Given the description of an element on the screen output the (x, y) to click on. 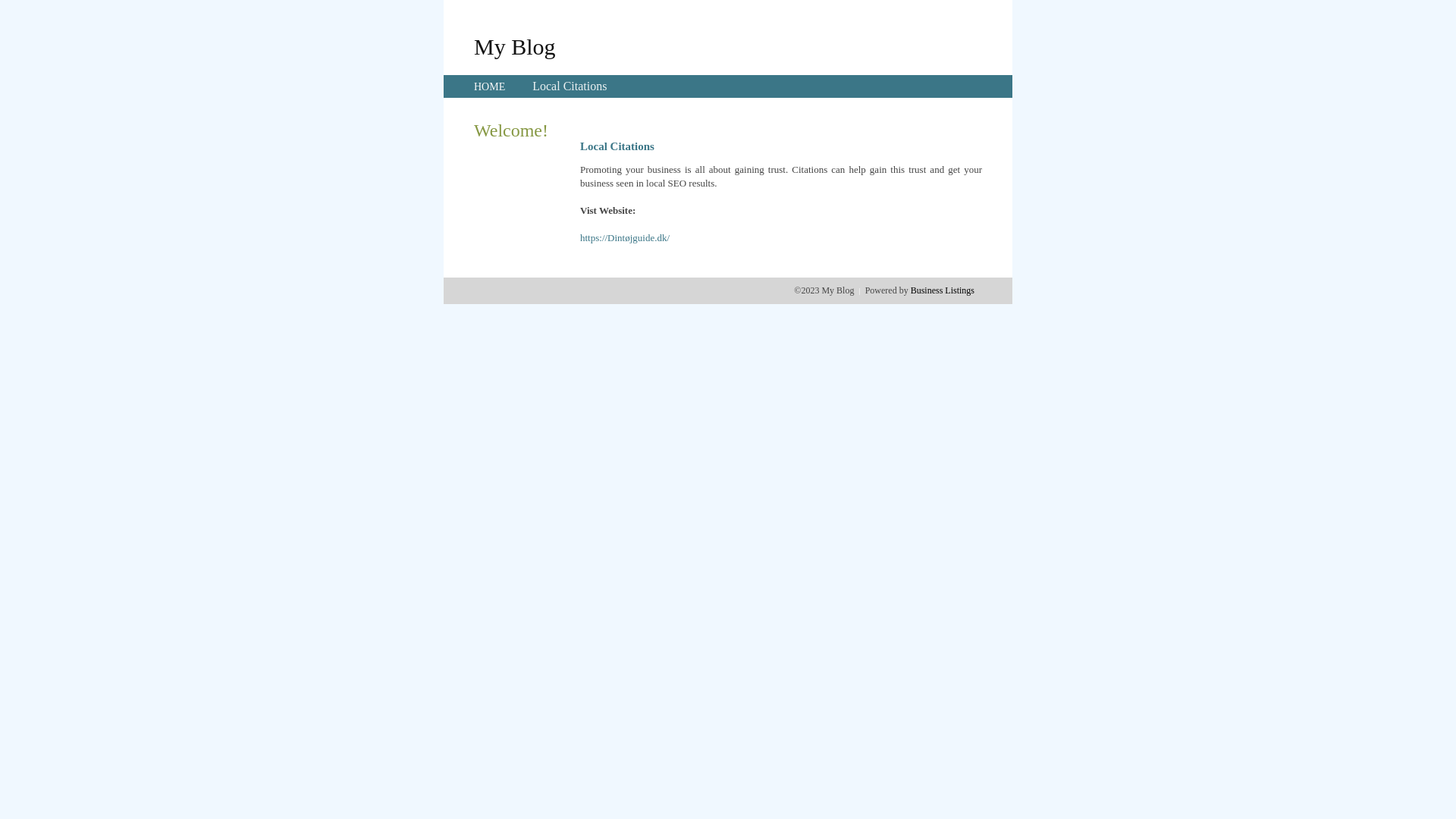
My Blog Element type: text (514, 46)
Business Listings Element type: text (942, 290)
HOME Element type: text (489, 86)
Local Citations Element type: text (569, 85)
